Given the description of an element on the screen output the (x, y) to click on. 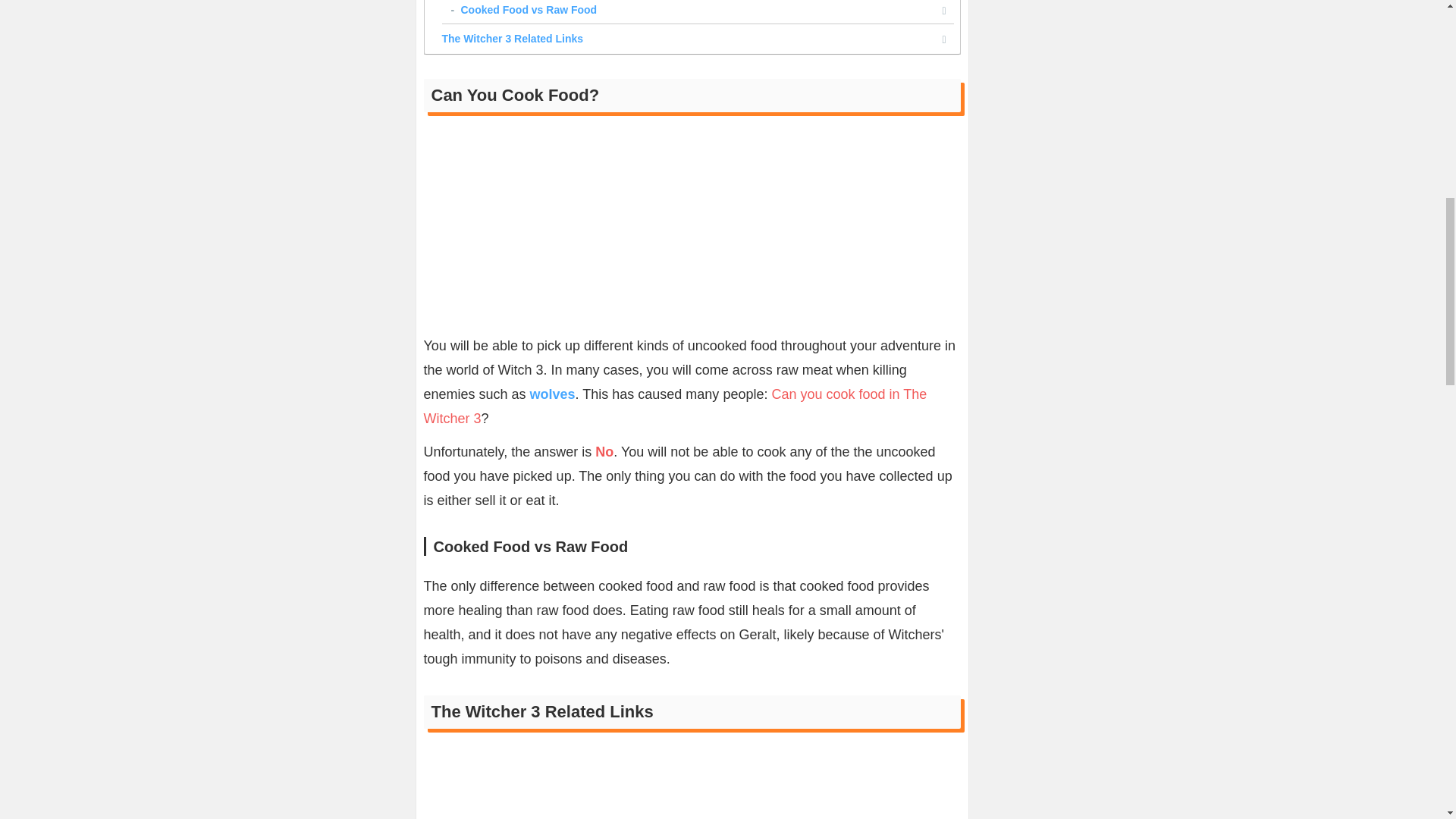
wolves (552, 394)
The Witcher 3 Related Links (691, 38)
Cooked Food vs Raw Food (691, 11)
